Given the description of an element on the screen output the (x, y) to click on. 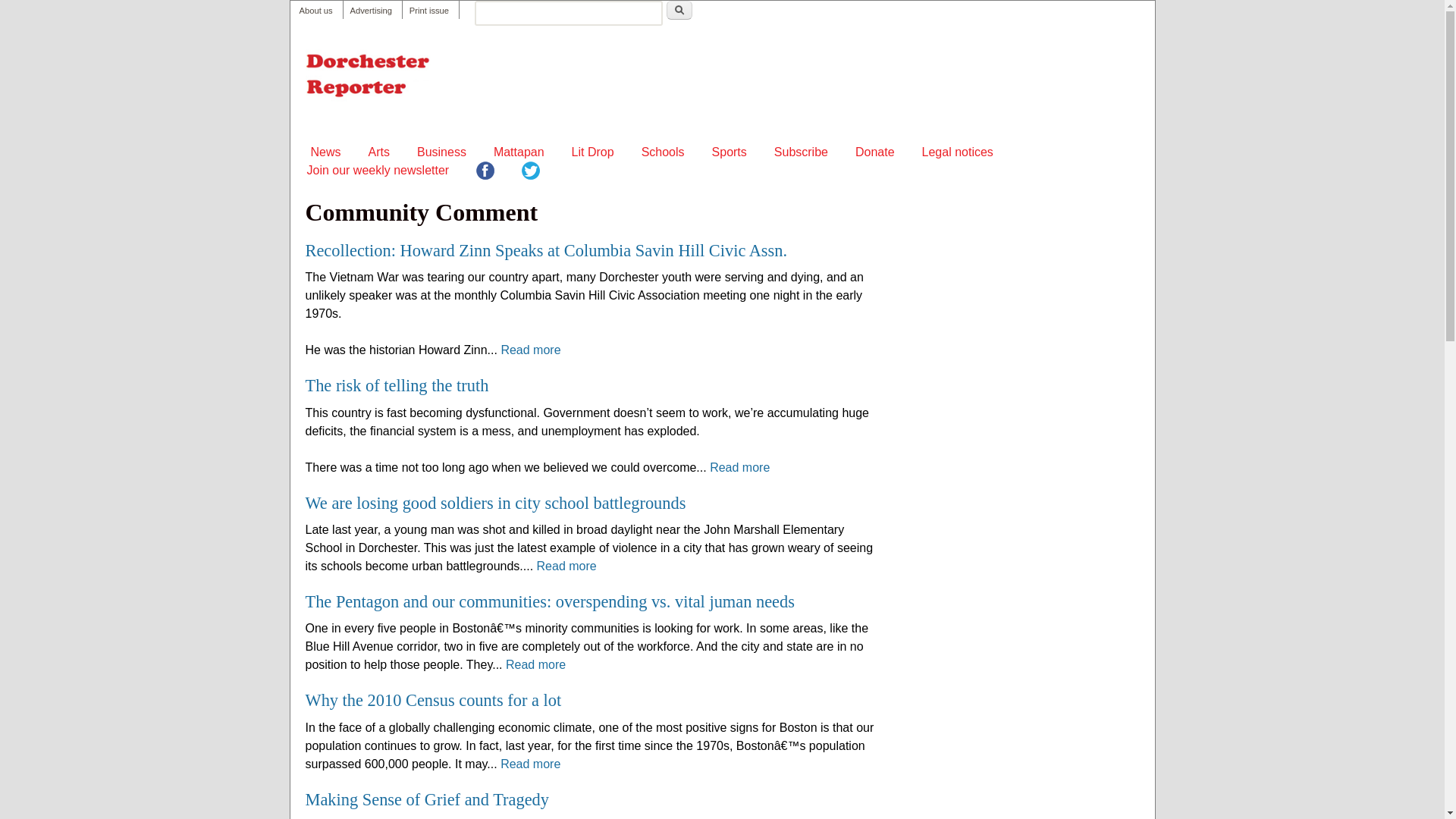
Why the 2010 Census counts for a lot (432, 700)
Search (679, 9)
Search (679, 9)
The risk of telling the truth (395, 384)
Read more (740, 467)
Advertising (371, 10)
Dorchester Reporter weekly print issue (428, 10)
Sports (729, 152)
Legal notices (956, 152)
News (325, 152)
Lit Drop (593, 152)
Read more (535, 664)
Read more (566, 565)
